Given the description of an element on the screen output the (x, y) to click on. 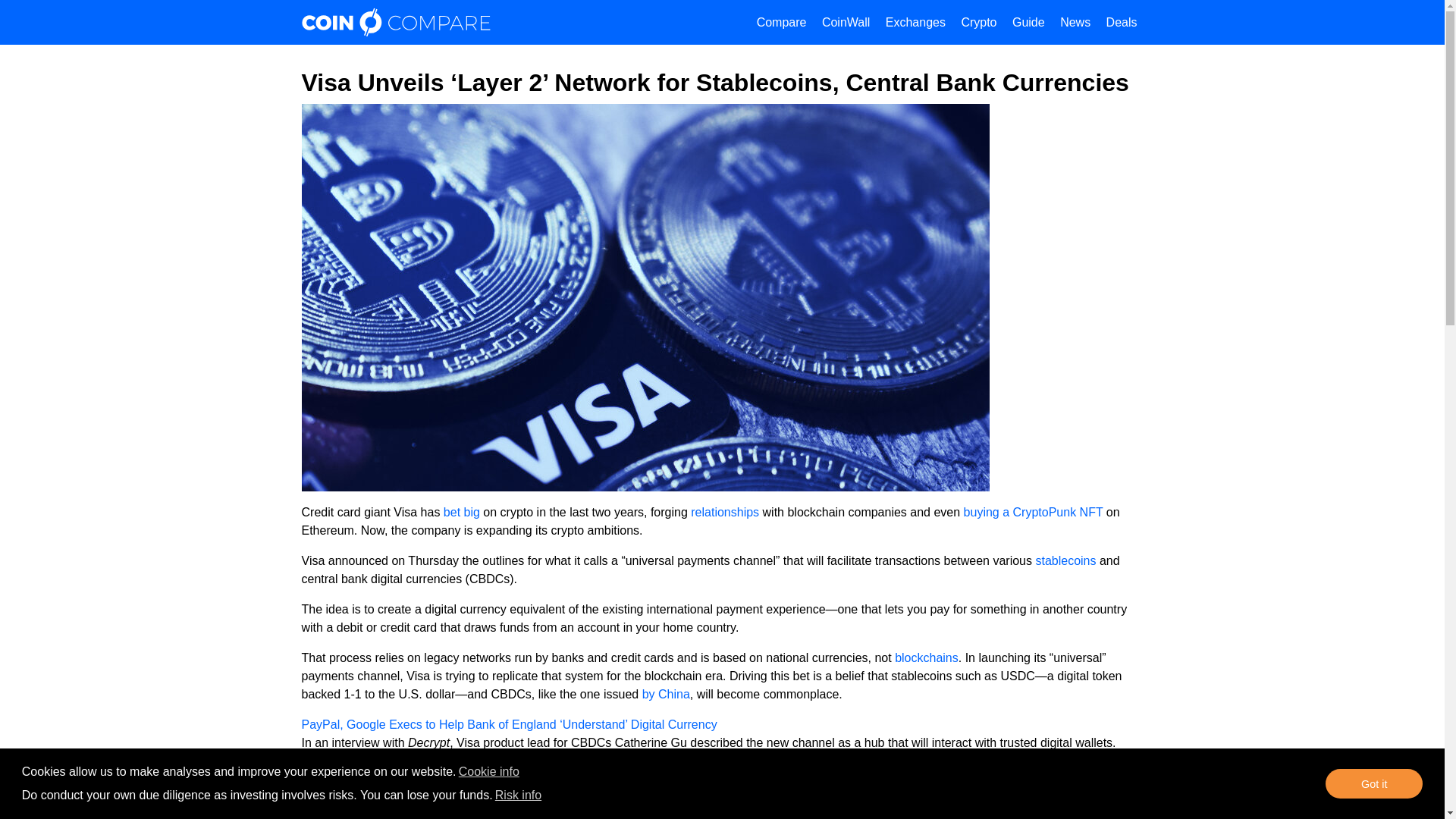
CoinWall (845, 22)
Guide (1028, 22)
Crypto (979, 22)
Got it (1373, 784)
Cookie info (489, 771)
Ethereum (781, 772)
stablecoins (1065, 560)
Bitcoin (709, 772)
Risk info (518, 794)
blockchains (926, 657)
